Given the description of an element on the screen output the (x, y) to click on. 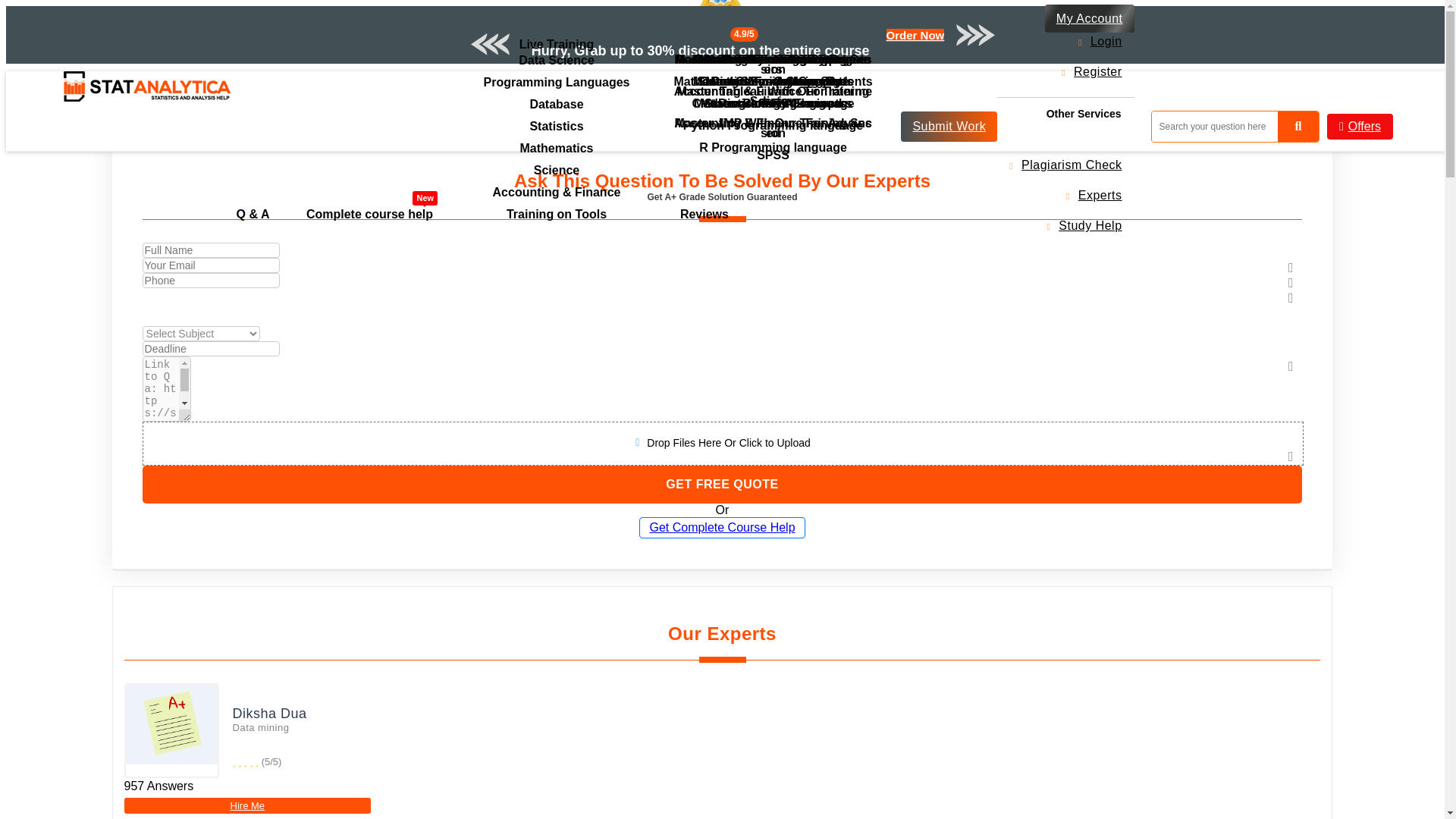
Data Science (556, 60)
Database (556, 104)
Science (556, 169)
Live Training (557, 43)
R Programming language (773, 147)
Mathematics (556, 147)
Order Now (915, 34)
Python Programming language (773, 125)
Programming Languages (556, 82)
